Given the description of an element on the screen output the (x, y) to click on. 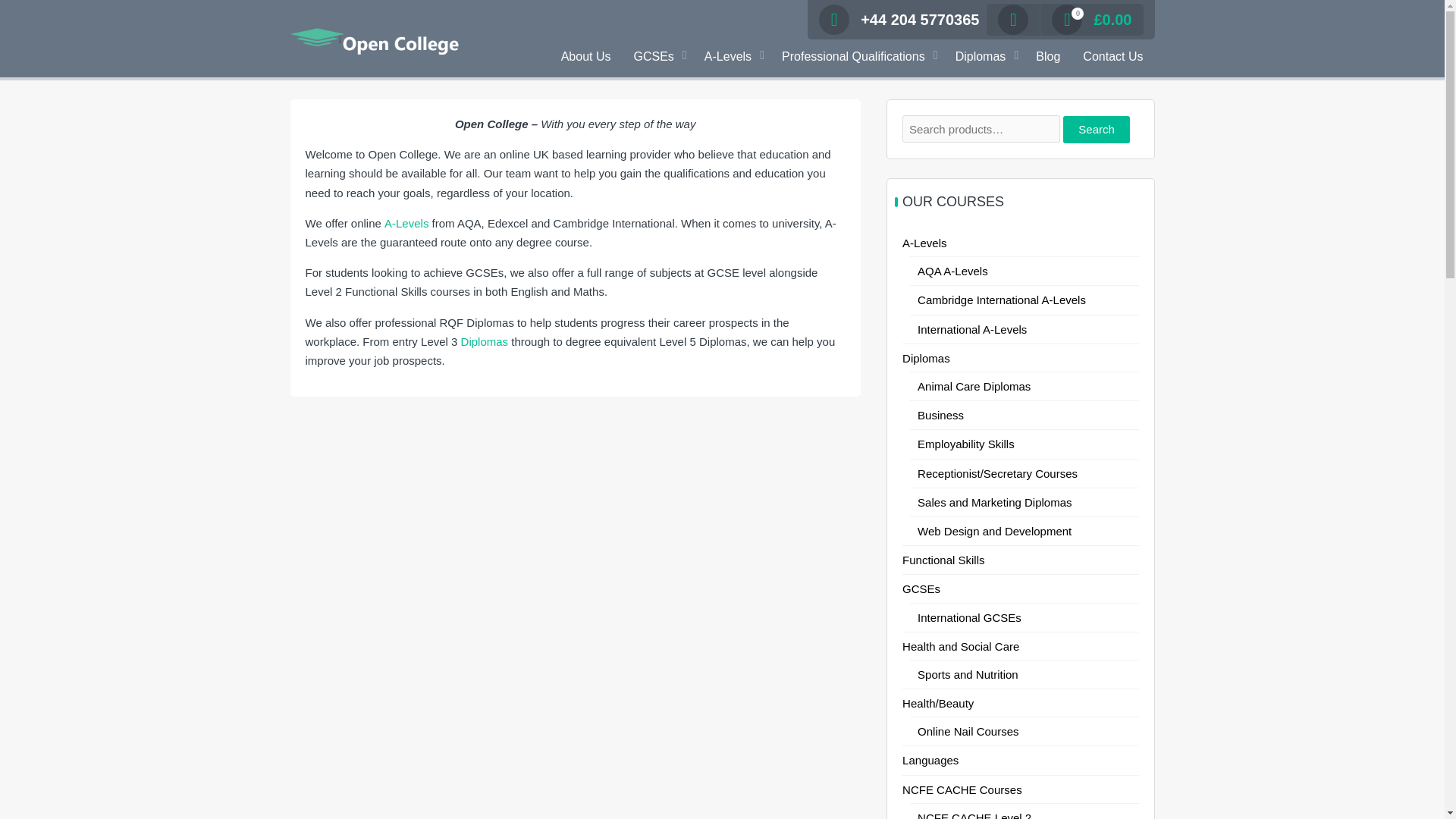
Professional Qualifications (856, 57)
A-Levels (731, 57)
Diplomas (984, 57)
GCSEs (657, 57)
About Us (586, 57)
Login (979, 166)
